Given the description of an element on the screen output the (x, y) to click on. 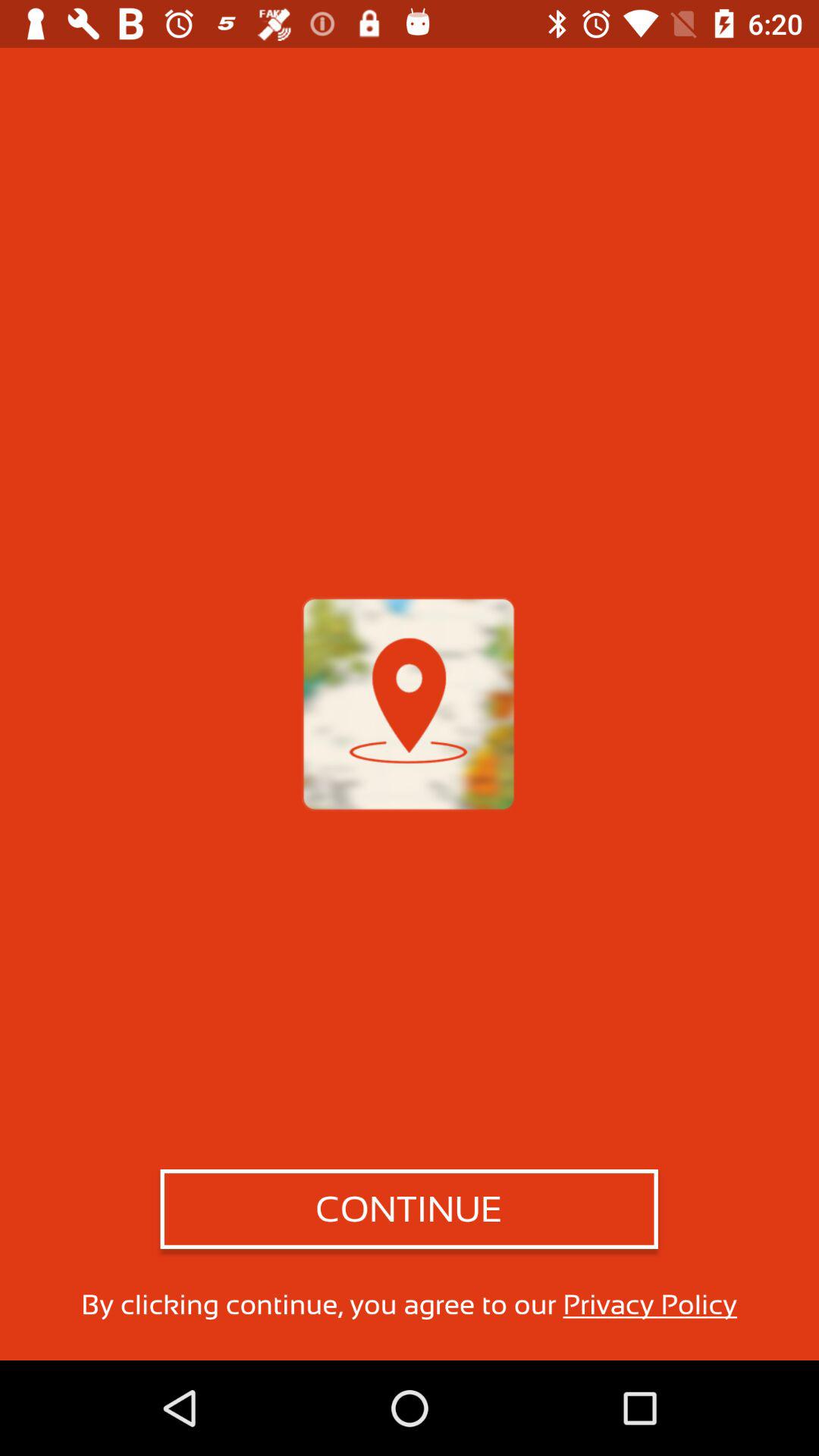
flip to the by clicking continue item (409, 1304)
